Given the description of an element on the screen output the (x, y) to click on. 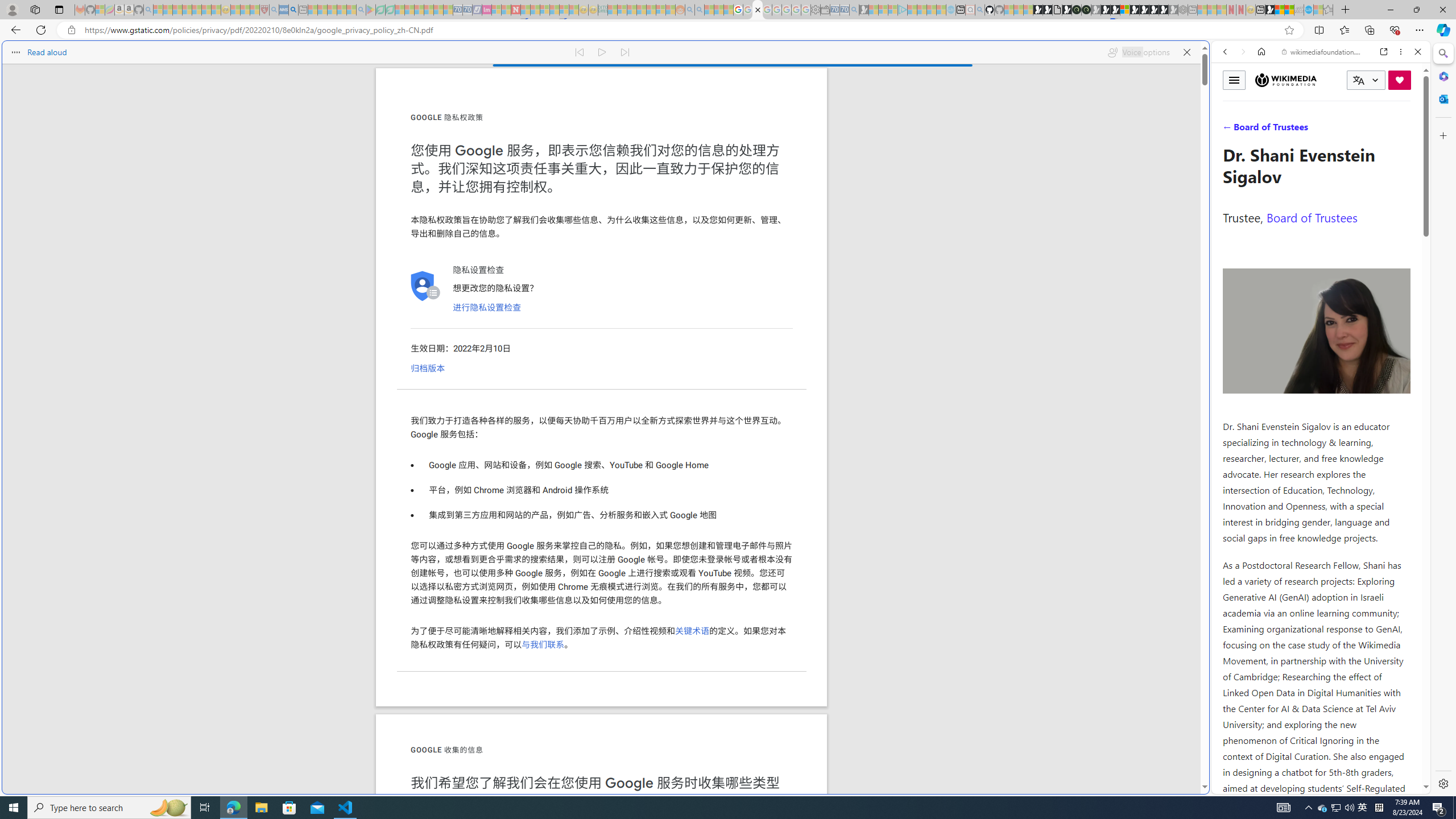
Frequently visited (965, 151)
Wikimedia Foundation (1285, 79)
